Given the description of an element on the screen output the (x, y) to click on. 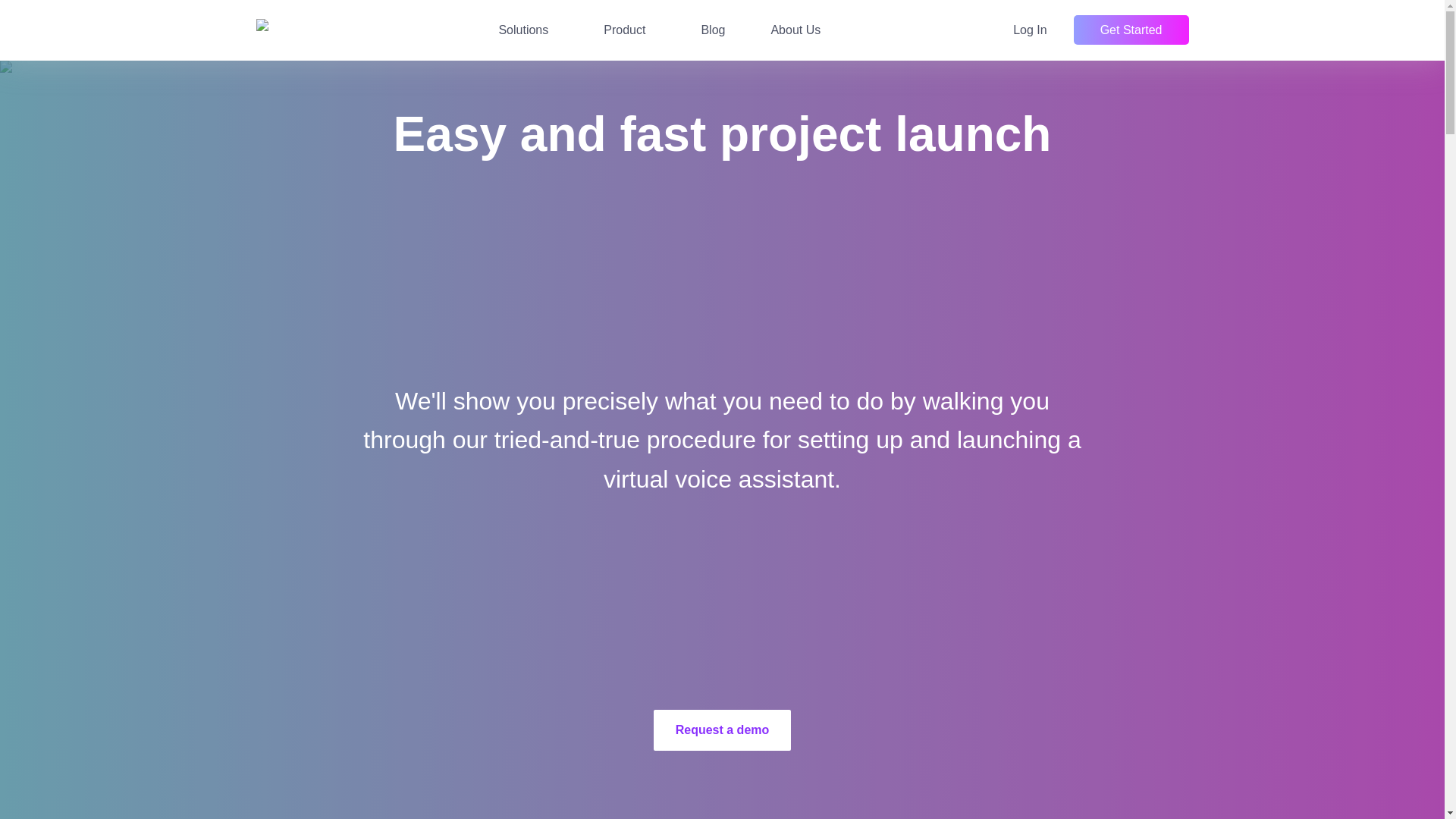
Log In (1029, 29)
Request a demo (722, 730)
Blog (712, 29)
Get Started (1131, 30)
About Us (795, 29)
